Given the description of an element on the screen output the (x, y) to click on. 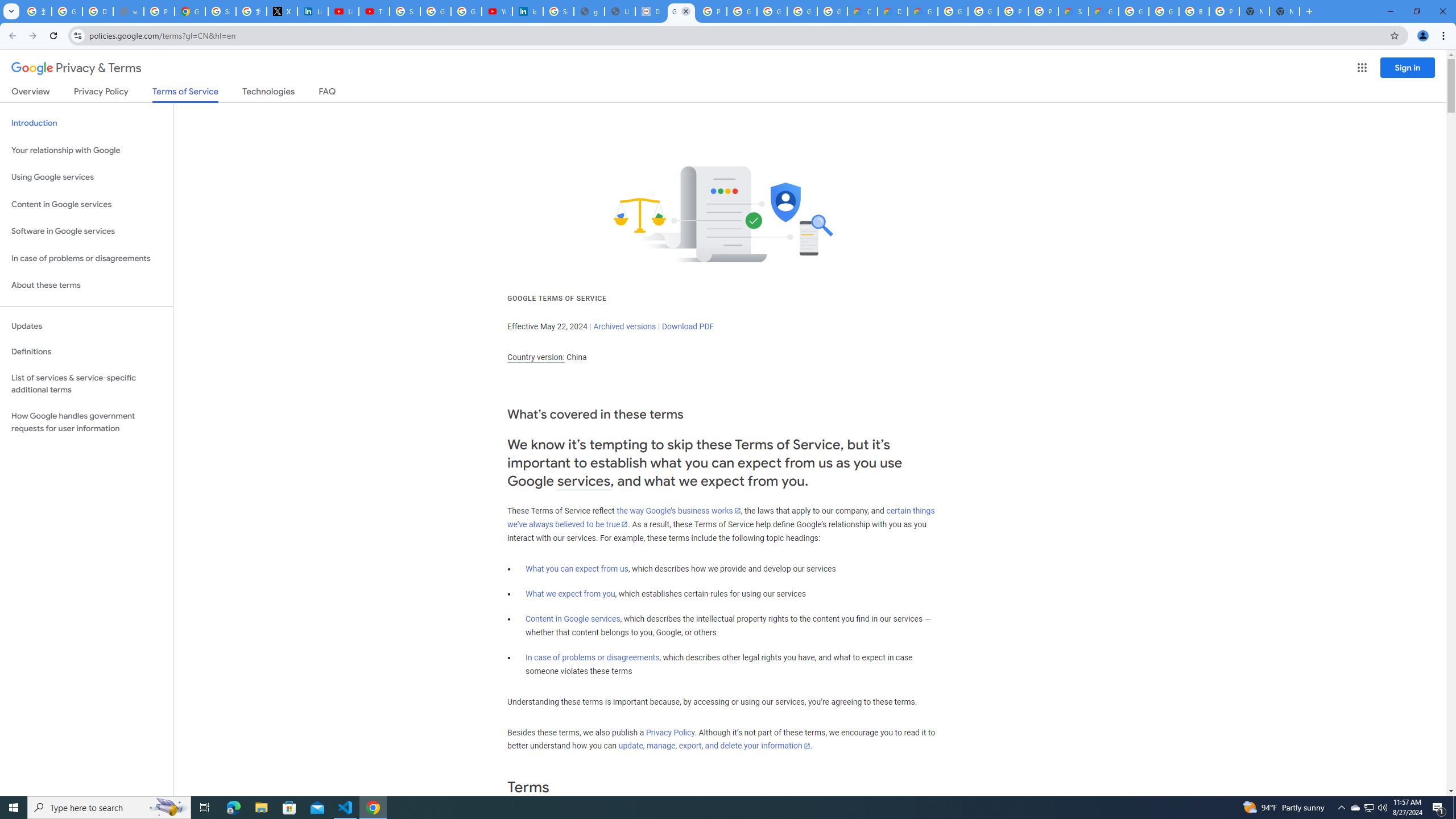
Customer Care | Google Cloud (862, 11)
Google Cloud Platform (1163, 11)
Google Workspace - Specific Terms (801, 11)
What you can expect from us (576, 568)
Gemini for Business and Developers | Google Cloud (922, 11)
LinkedIn Privacy Policy (312, 11)
Updates (86, 325)
